Given the description of an element on the screen output the (x, y) to click on. 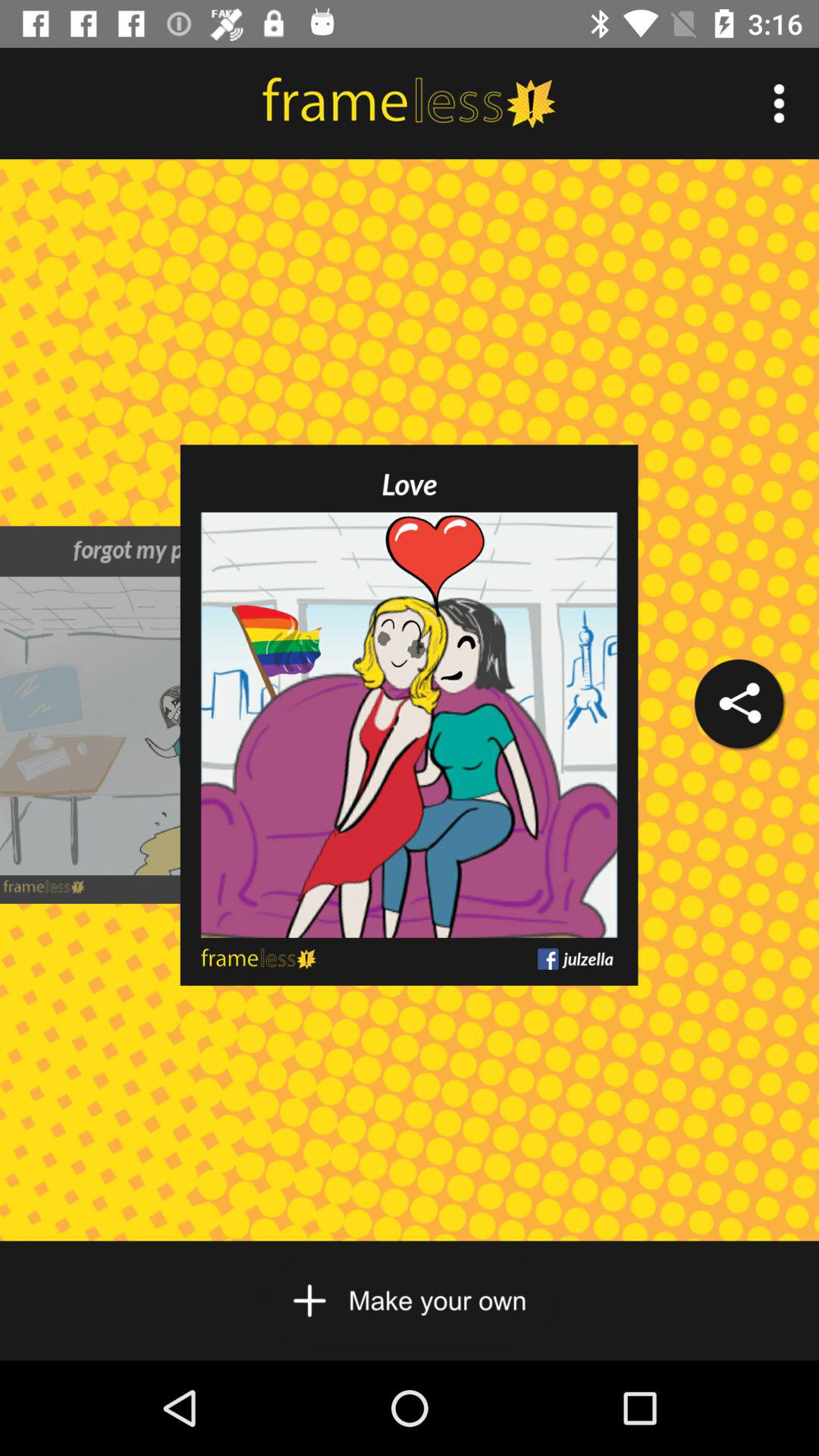
select the icon on the right (738, 703)
